Given the description of an element on the screen output the (x, y) to click on. 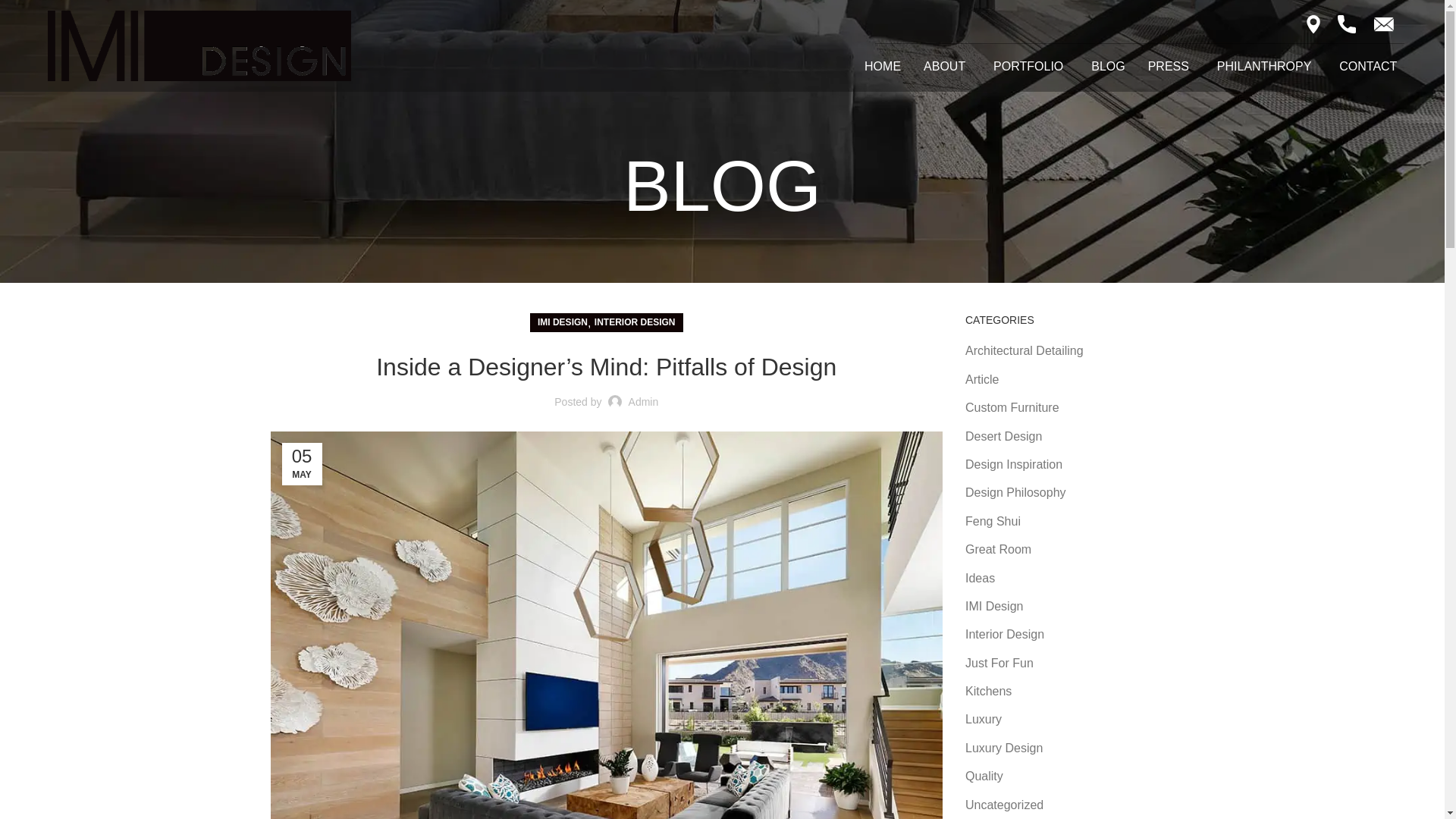
call (1346, 24)
Admin (643, 401)
INTERIOR DESIGN (634, 322)
PRESS (1171, 66)
ABOUT (946, 66)
call (1383, 24)
CONTACT (1367, 66)
PORTFOLIO (1030, 66)
IMI DESIGN (562, 322)
BLOG (1107, 66)
